Given the description of an element on the screen output the (x, y) to click on. 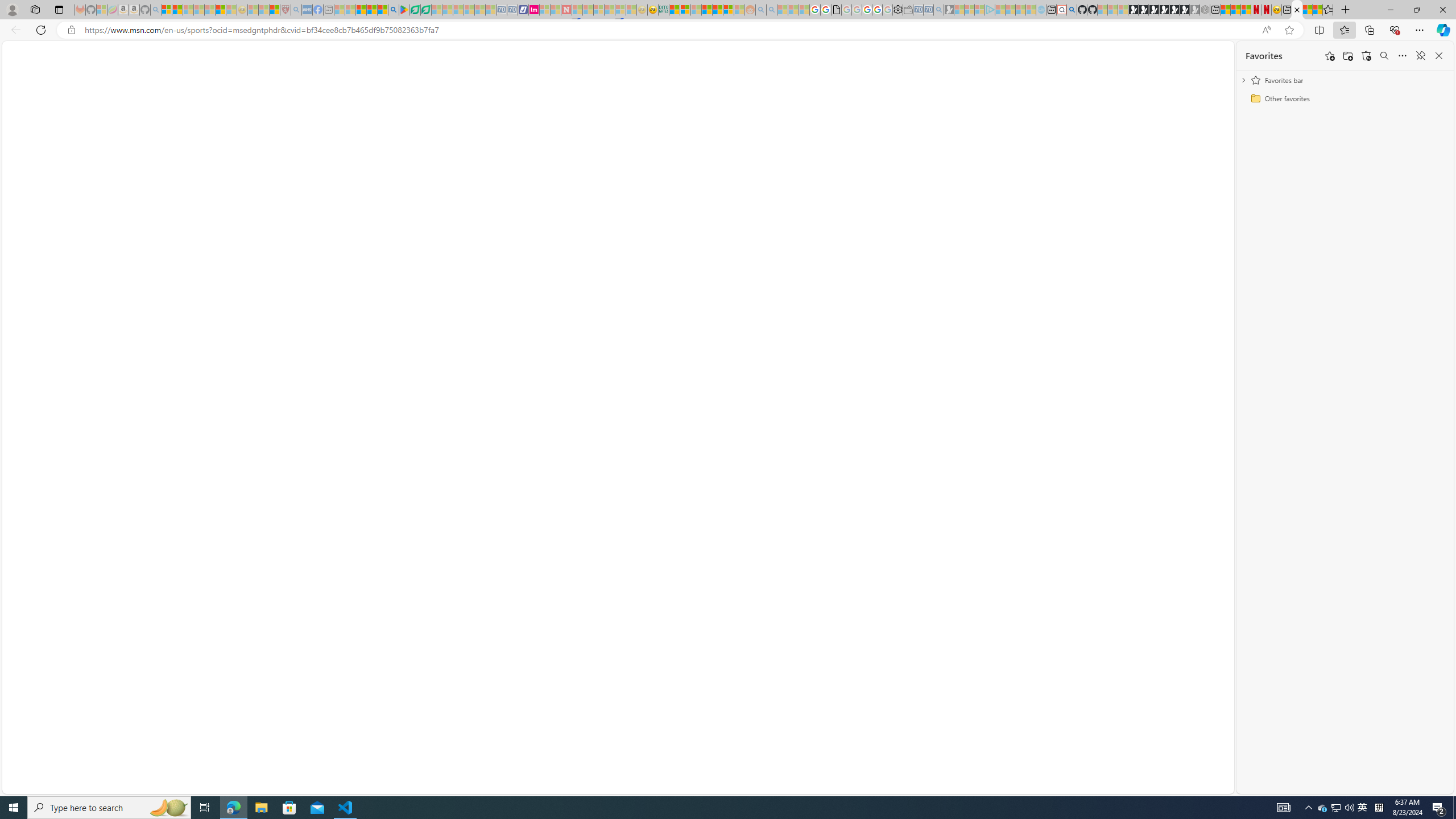
Local - MSN (274, 9)
